Given the description of an element on the screen output the (x, y) to click on. 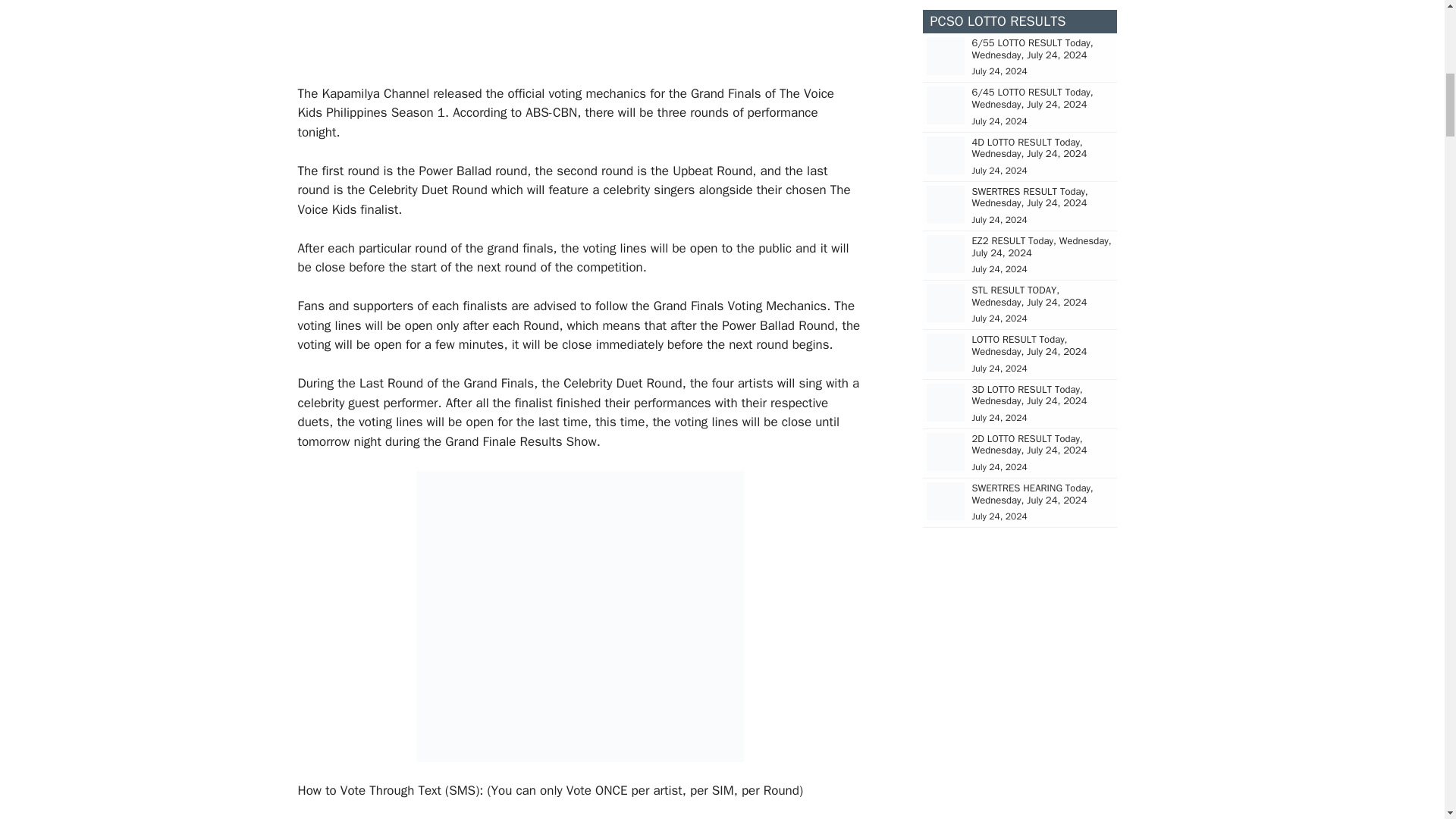
The Voice Kids Philippines: Grand Finals Voting Mechanics (579, 29)
